Given the description of an element on the screen output the (x, y) to click on. 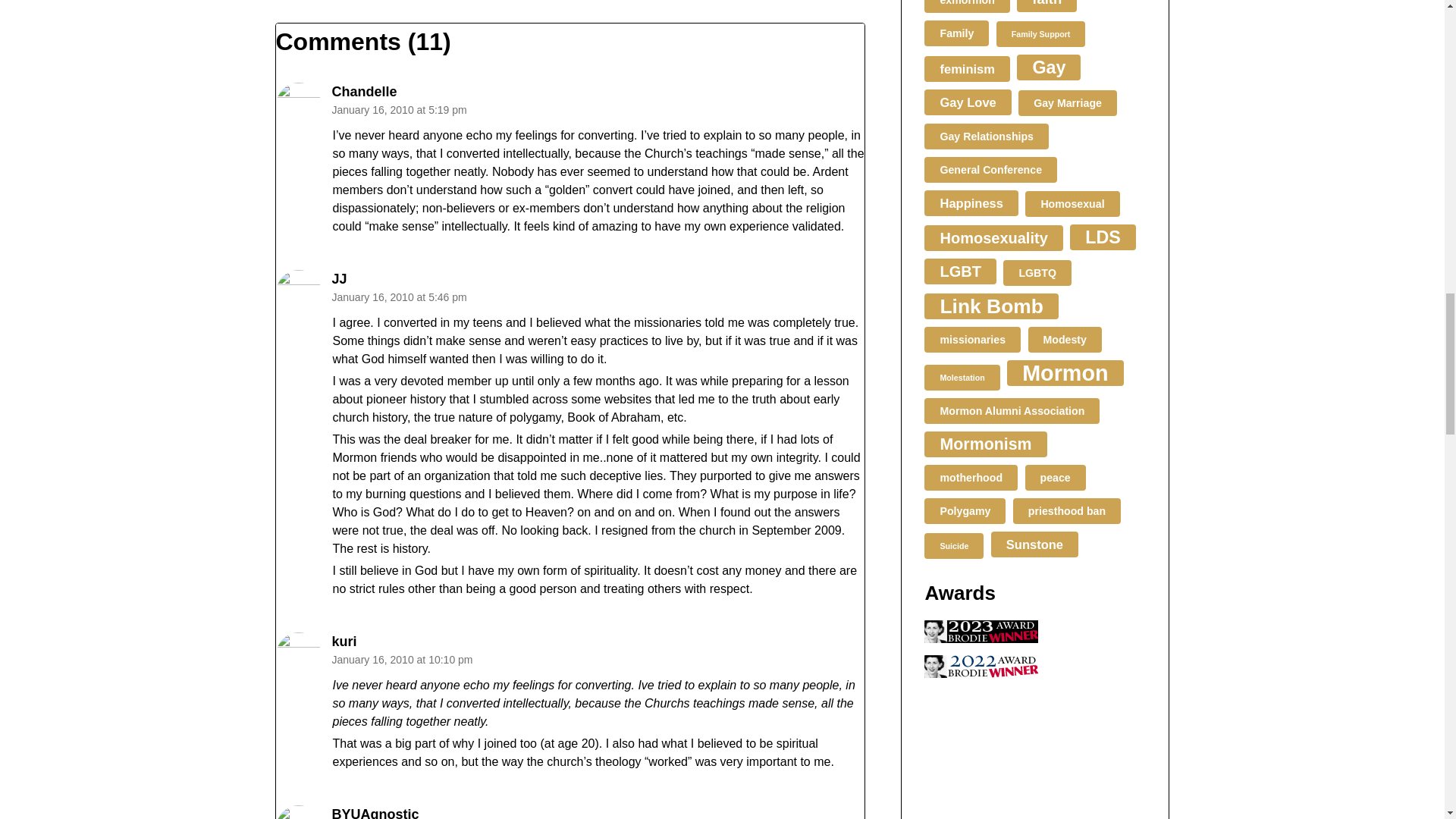
January 16, 2010 at 5:46 pm (399, 297)
January 16, 2010 at 5:19 pm (399, 110)
January 16, 2010 at 10:10 pm (402, 659)
kuri (343, 641)
Chandelle (364, 91)
